Given the description of an element on the screen output the (x, y) to click on. 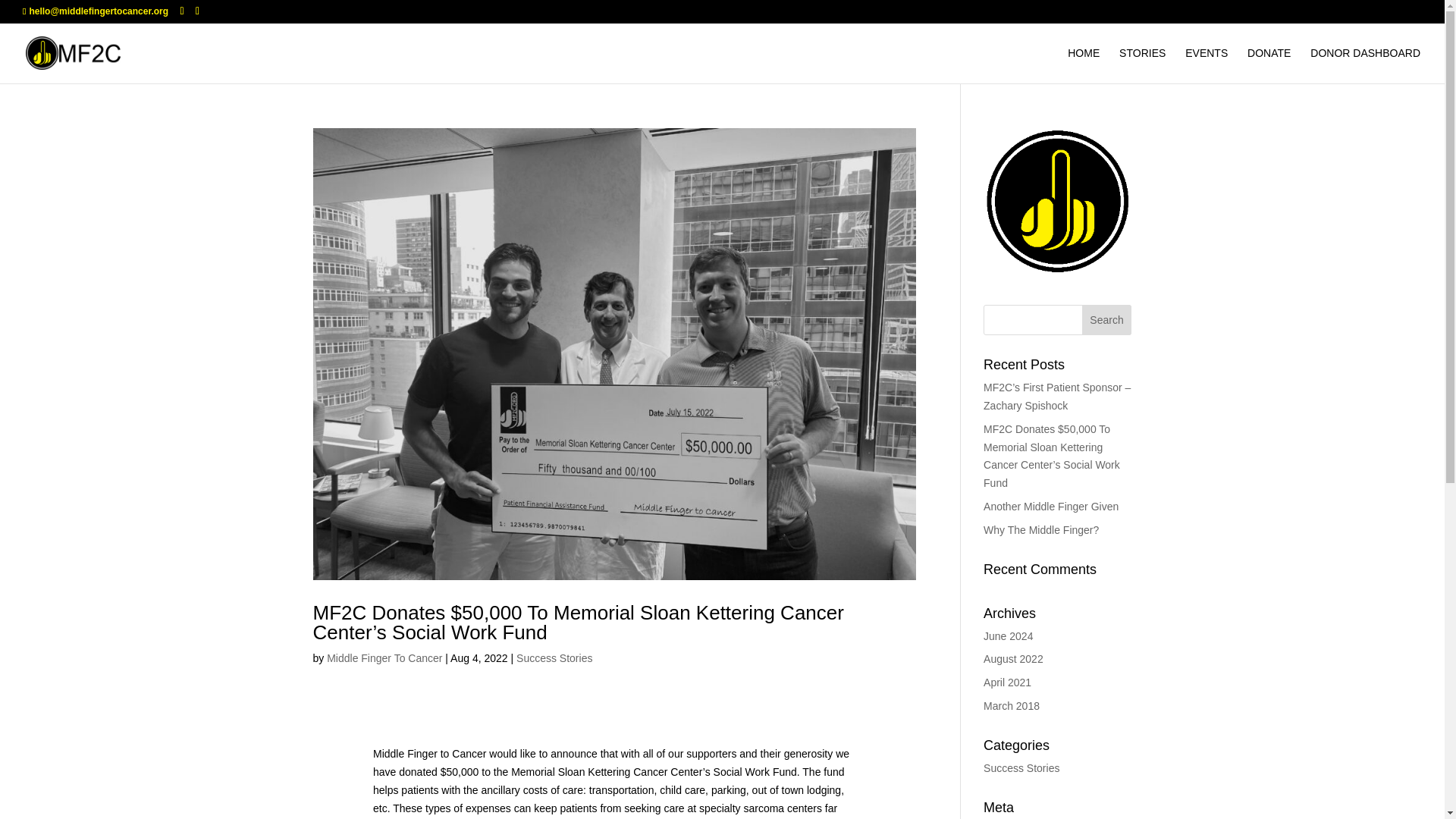
Another Middle Finger Given (1051, 506)
Success Stories (1021, 767)
HOME (1083, 65)
Middle Finger To Cancer (384, 657)
Why The Middle Finger? (1041, 530)
Success Stories (554, 657)
Search (1106, 319)
April 2021 (1007, 682)
DONATE (1268, 65)
EVENTS (1206, 65)
DONOR DASHBOARD (1365, 65)
Search (1106, 319)
STORIES (1142, 65)
June 2024 (1008, 635)
March 2018 (1011, 705)
